Given the description of an element on the screen output the (x, y) to click on. 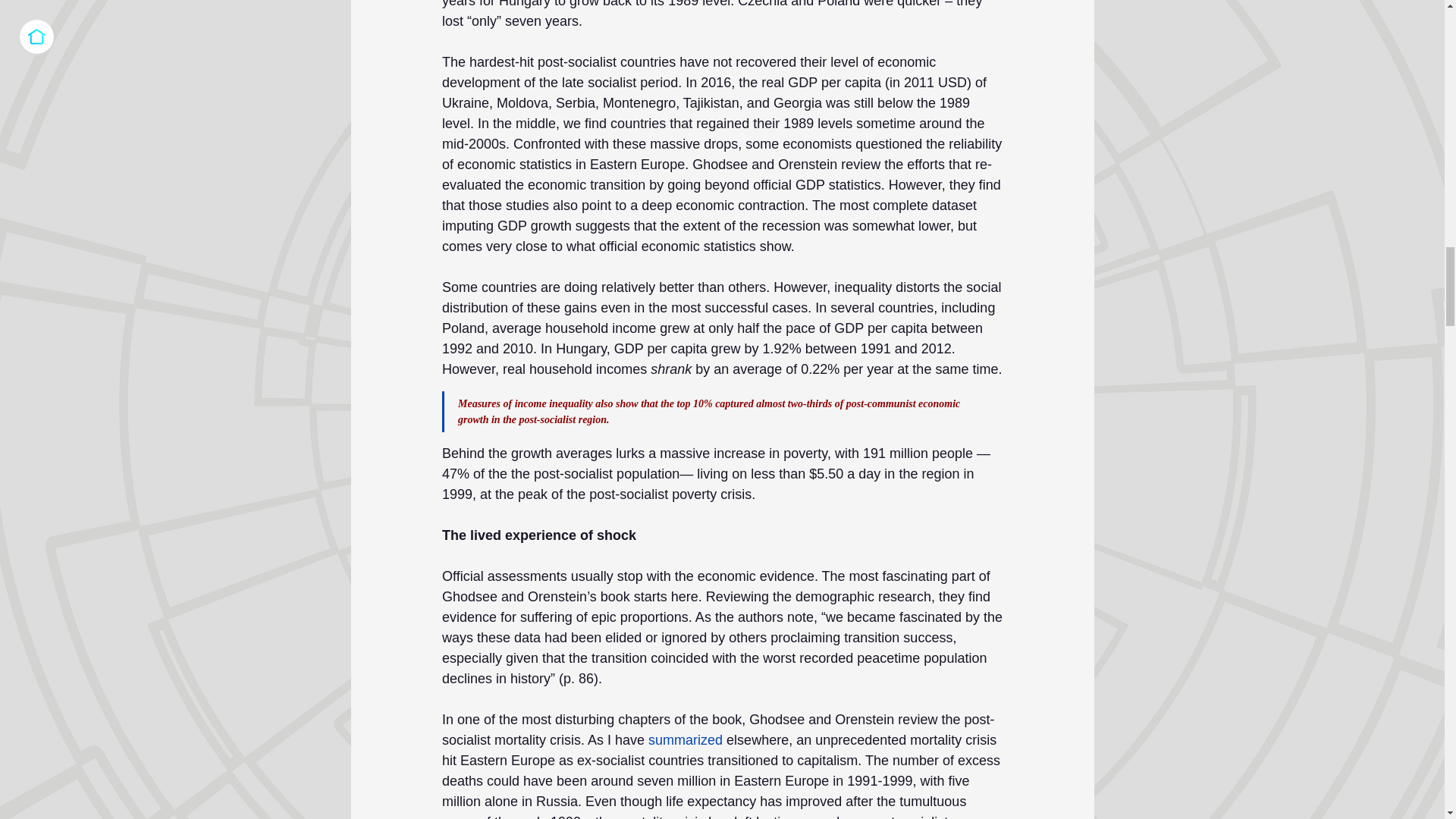
summarized (684, 739)
